Given the description of an element on the screen output the (x, y) to click on. 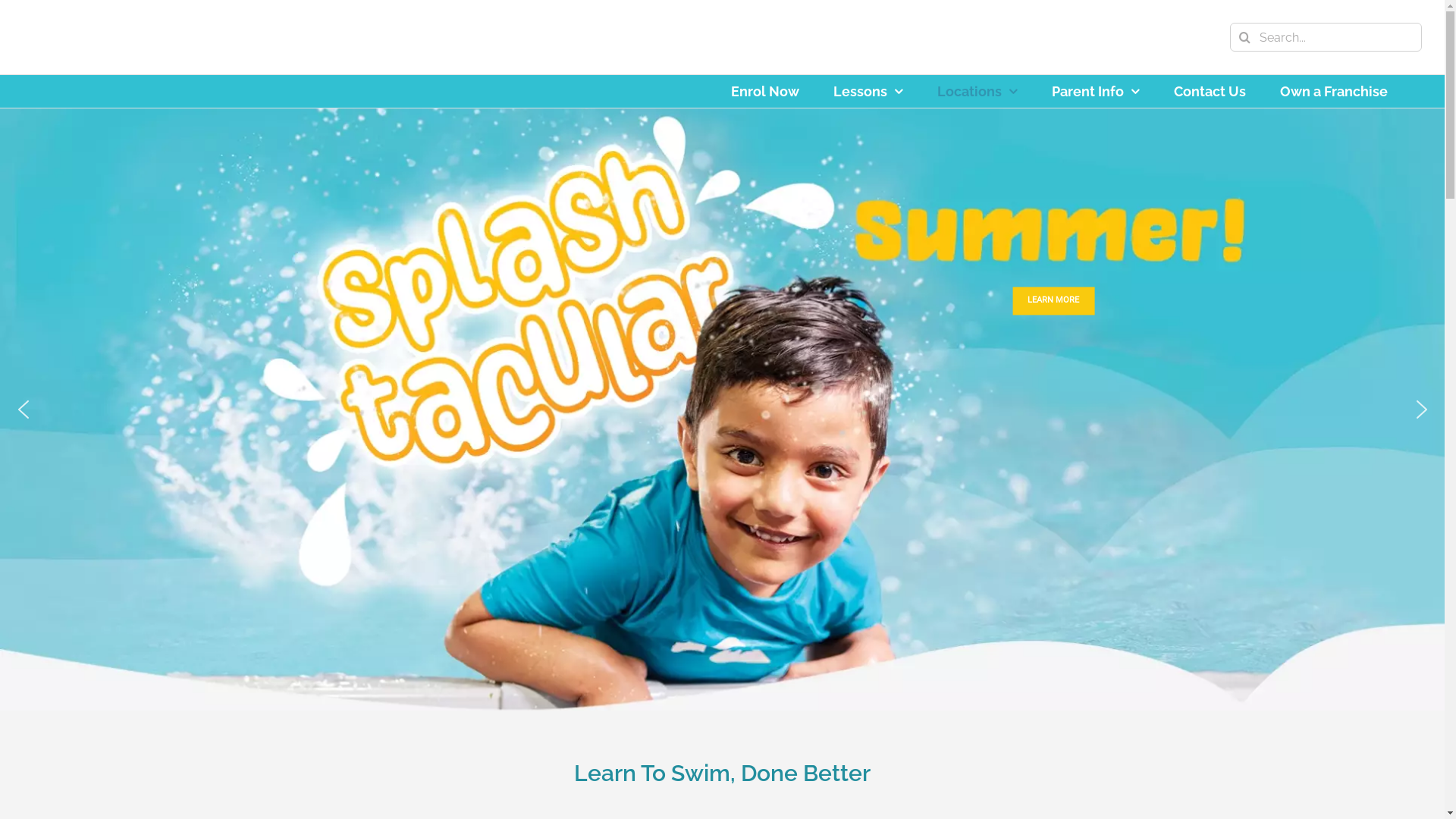
Contact Us Element type: text (1209, 91)
Locations Element type: text (977, 91)
Lessons Element type: text (868, 91)
Parent Info Element type: text (1095, 91)
Own a Franchise Element type: text (1333, 91)
LEARN MORE Element type: text (1106, 343)
Enrol Now Element type: text (765, 91)
Splashtacular Summer! Element type: hover (722, 409)
